Given the description of an element on the screen output the (x, y) to click on. 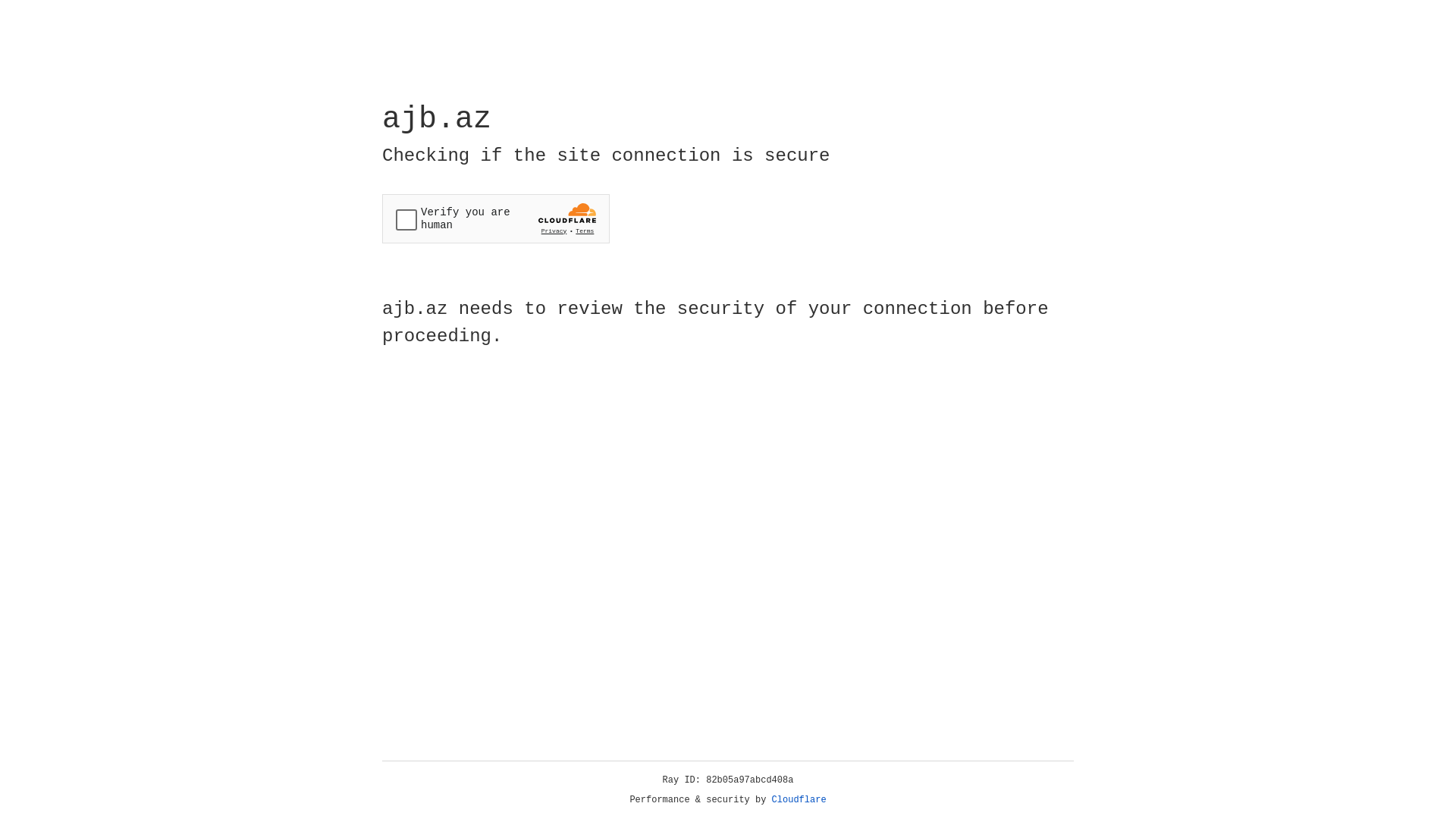
Widget containing a Cloudflare security challenge Element type: hover (495, 218)
Cloudflare Element type: text (798, 799)
